Given the description of an element on the screen output the (x, y) to click on. 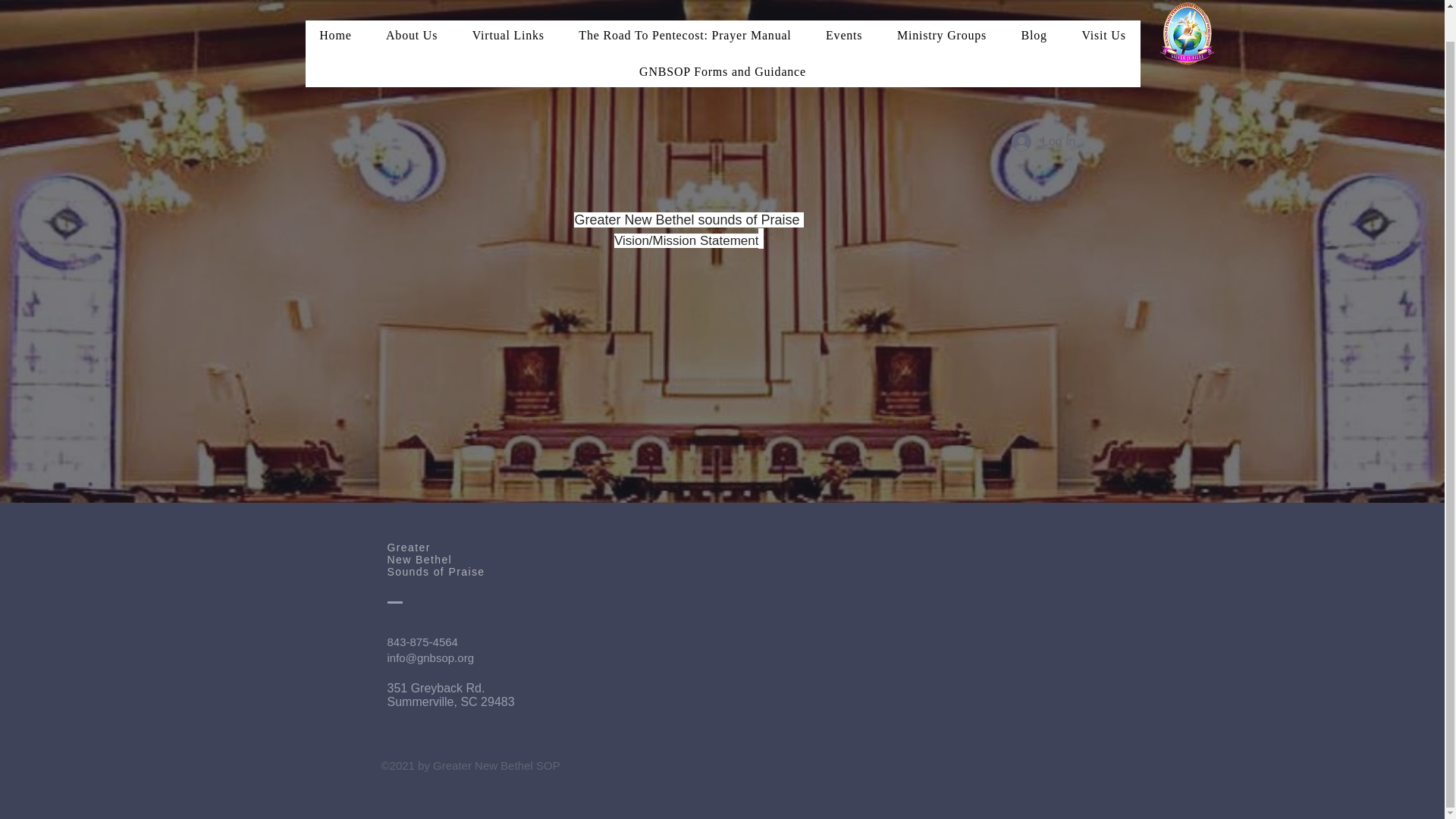
About Us (411, 9)
Events (843, 9)
Blog (1034, 9)
Virtual Links (508, 9)
GNBSOP Forms and Guidance (722, 39)
Home (334, 9)
Visit Us (1103, 9)
The Road To Pentecost: Prayer Manual (685, 9)
Log In (1043, 109)
Ministry Groups (941, 9)
